Given the description of an element on the screen output the (x, y) to click on. 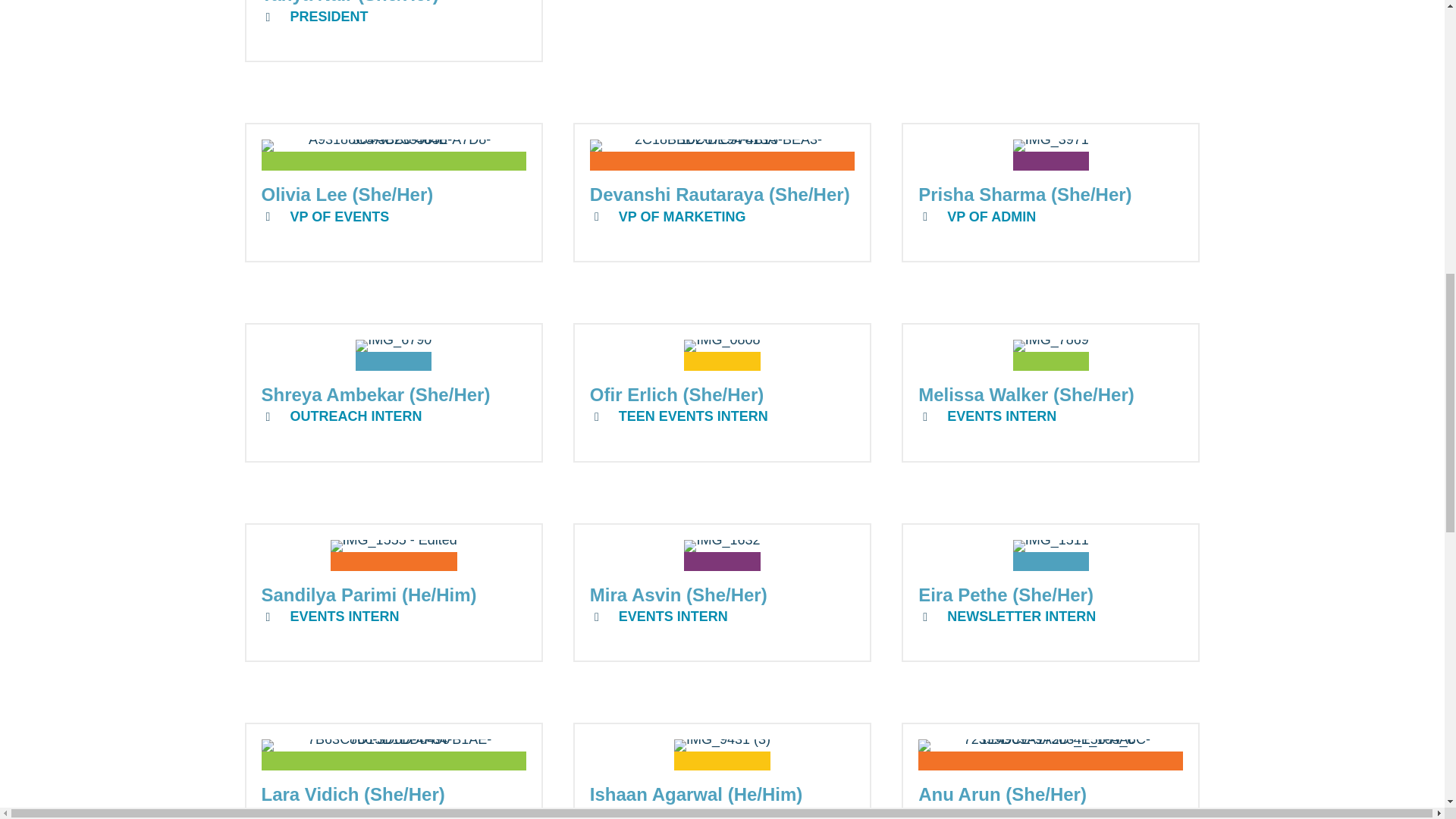
A93188C3-3BB0-464E-A7D8-504AC2355856 (392, 154)
7B63C766-3D6D-4F84-B1AE-8D15D1DD0490 (392, 754)
2C18BBD2-DE94-4B15-BEA3-10C87C97813A (721, 154)
